Given the description of an element on the screen output the (x, y) to click on. 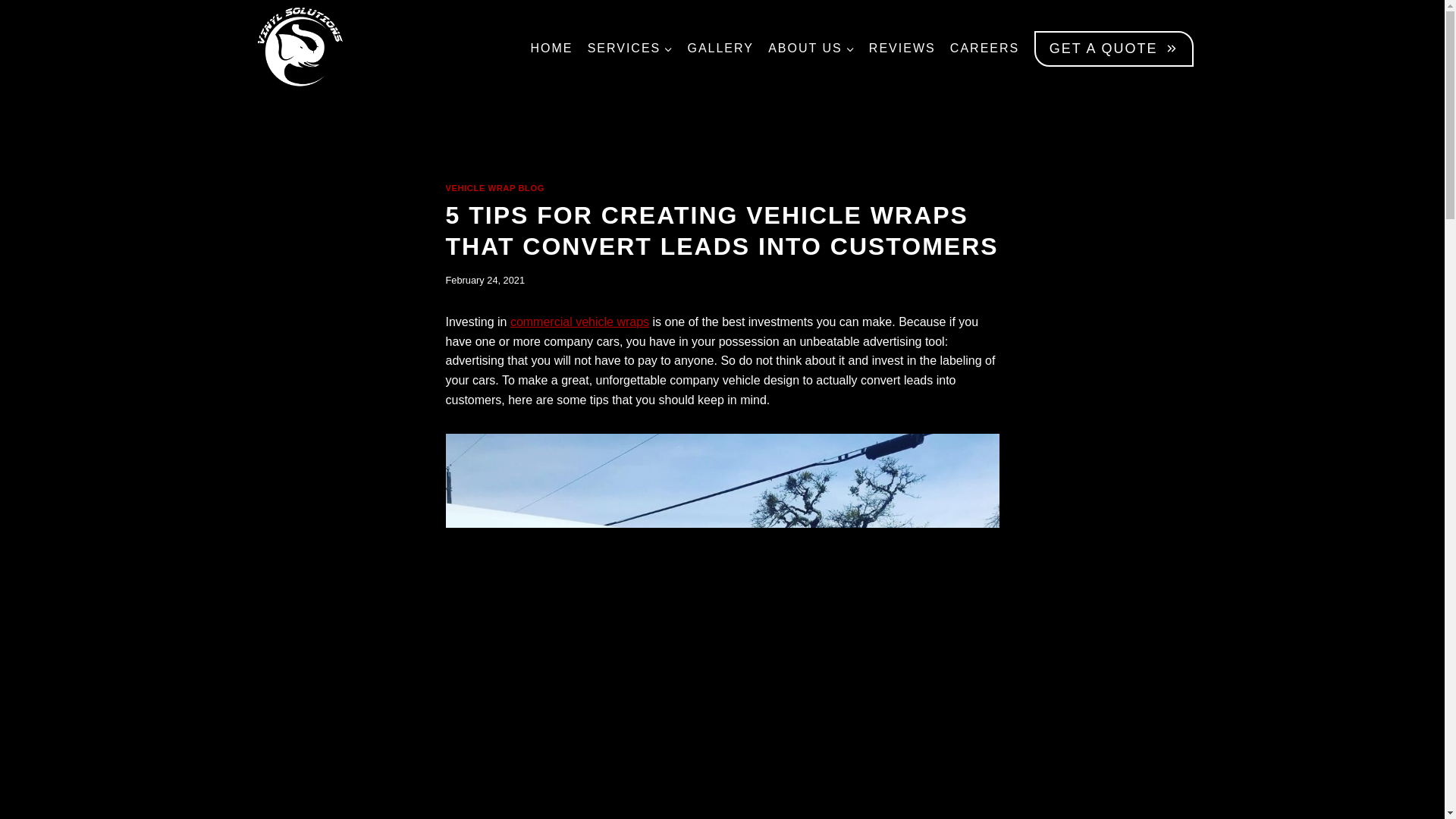
commercial vehicle wraps (580, 321)
VEHICLE WRAP BLOG (494, 187)
ABOUT US (811, 48)
CAREERS (984, 48)
HOME (550, 48)
REVIEWS (901, 48)
SERVICES (629, 48)
GET A QUOTE (1113, 48)
GALLERY (720, 48)
